Given the description of an element on the screen output the (x, y) to click on. 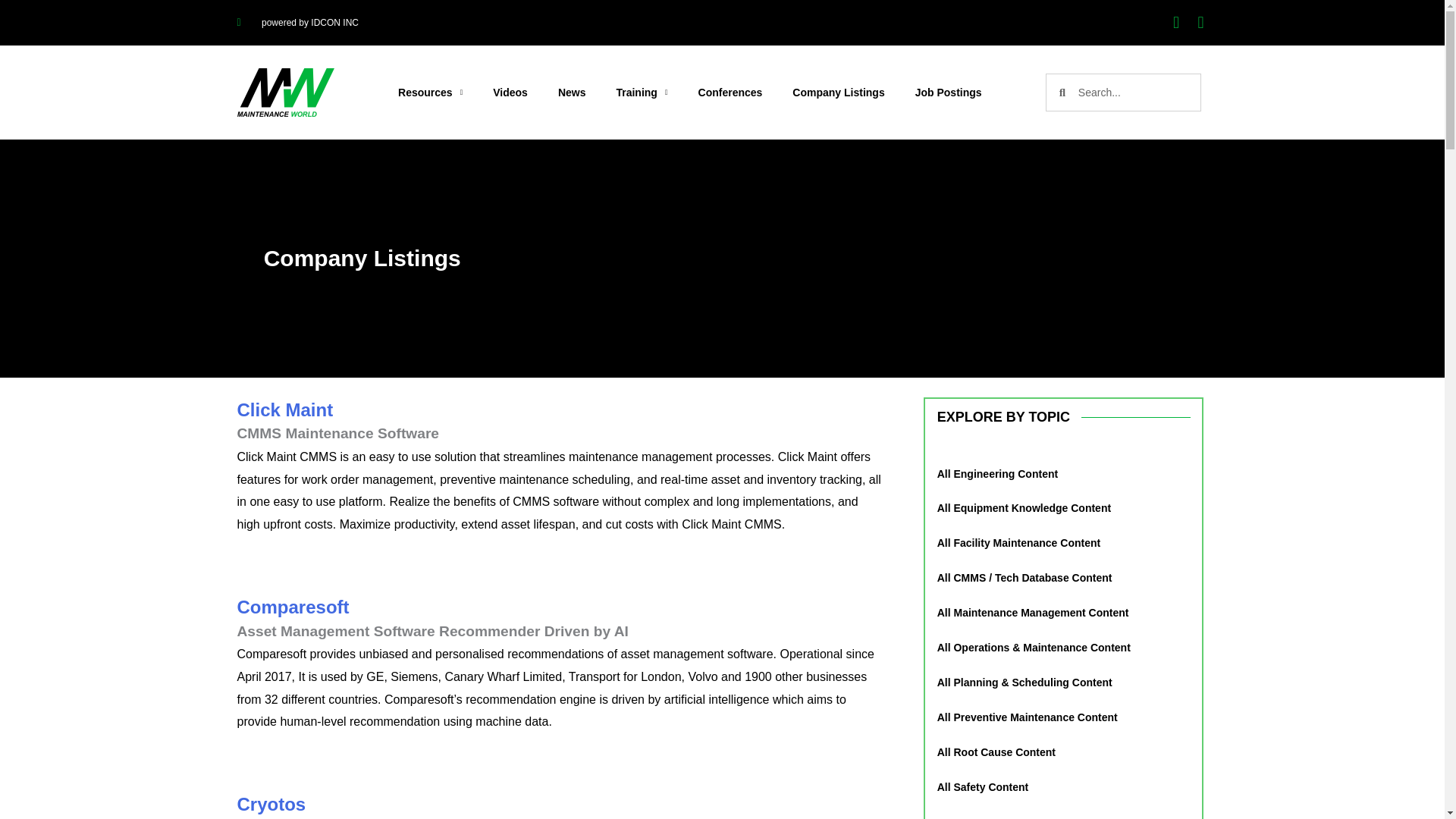
Resources (429, 92)
Job Postings (948, 92)
Conferences (729, 92)
powered by IDCON INC (296, 22)
Training (640, 92)
Company Listings (838, 92)
Videos (510, 92)
News (572, 92)
